Given the description of an element on the screen output the (x, y) to click on. 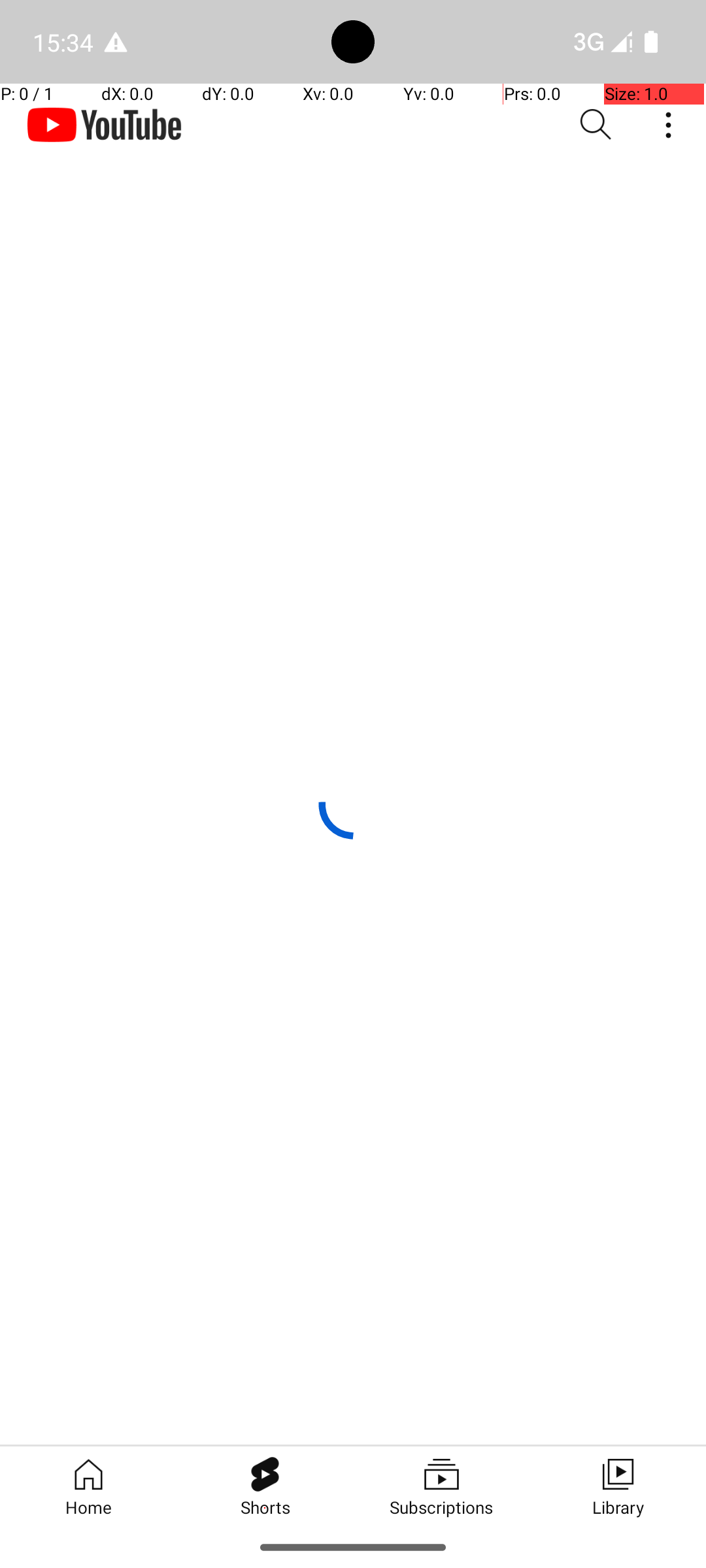
Shorts Element type: android.widget.Button (264, 1485)
Subscriptions Element type: android.widget.Button (441, 1485)
Library Element type: android.widget.Button (617, 1485)
